Given the description of an element on the screen output the (x, y) to click on. 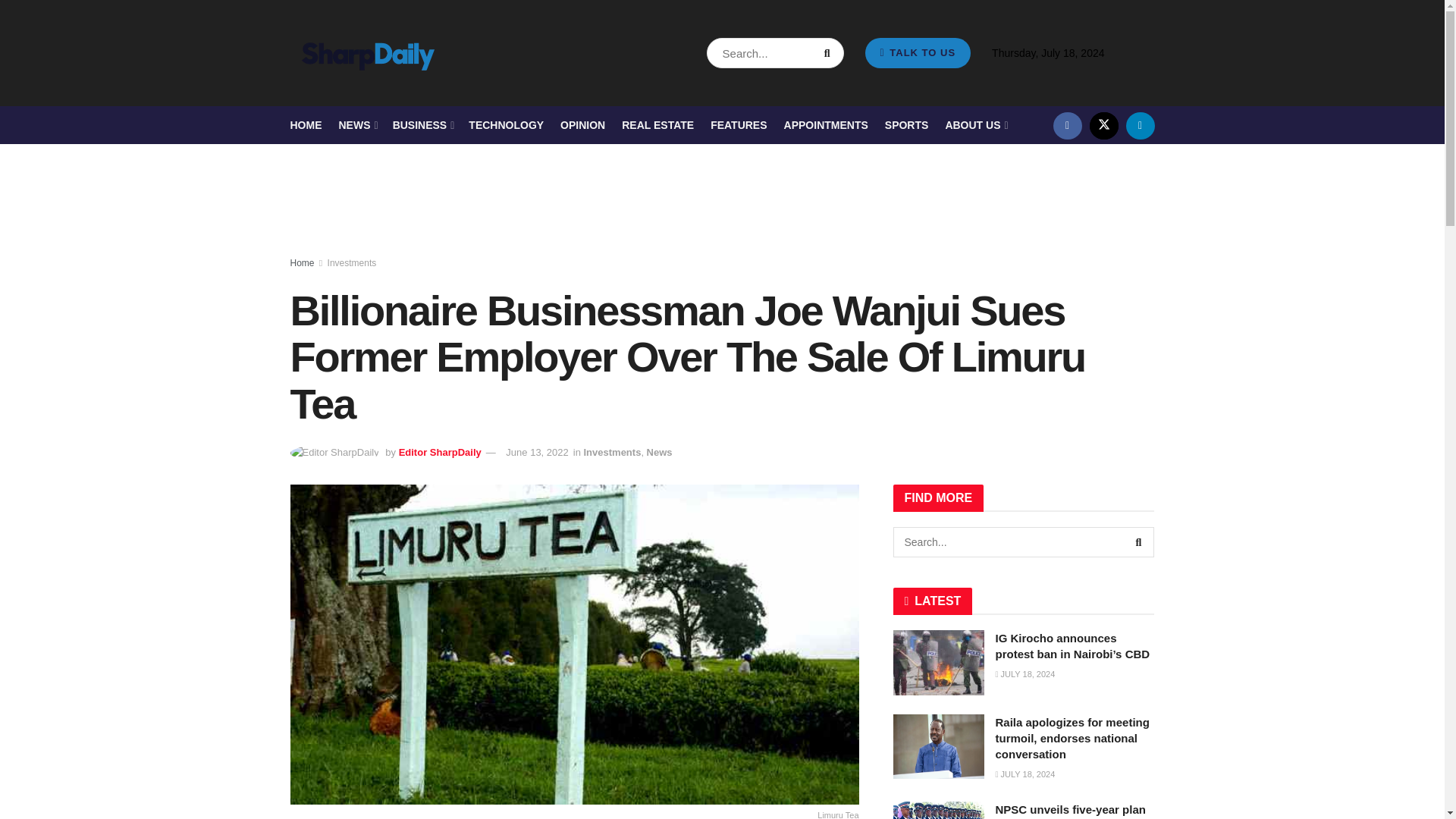
REAL ESTATE (657, 125)
FEATURES (738, 125)
Advertisement (722, 201)
SPORTS (906, 125)
TECHNOLOGY (505, 125)
NEWS (356, 125)
OPINION (582, 125)
HOME (305, 125)
BUSINESS (422, 125)
TALK TO US (917, 52)
ABOUT US (975, 125)
APPOINTMENTS (825, 125)
